Given the description of an element on the screen output the (x, y) to click on. 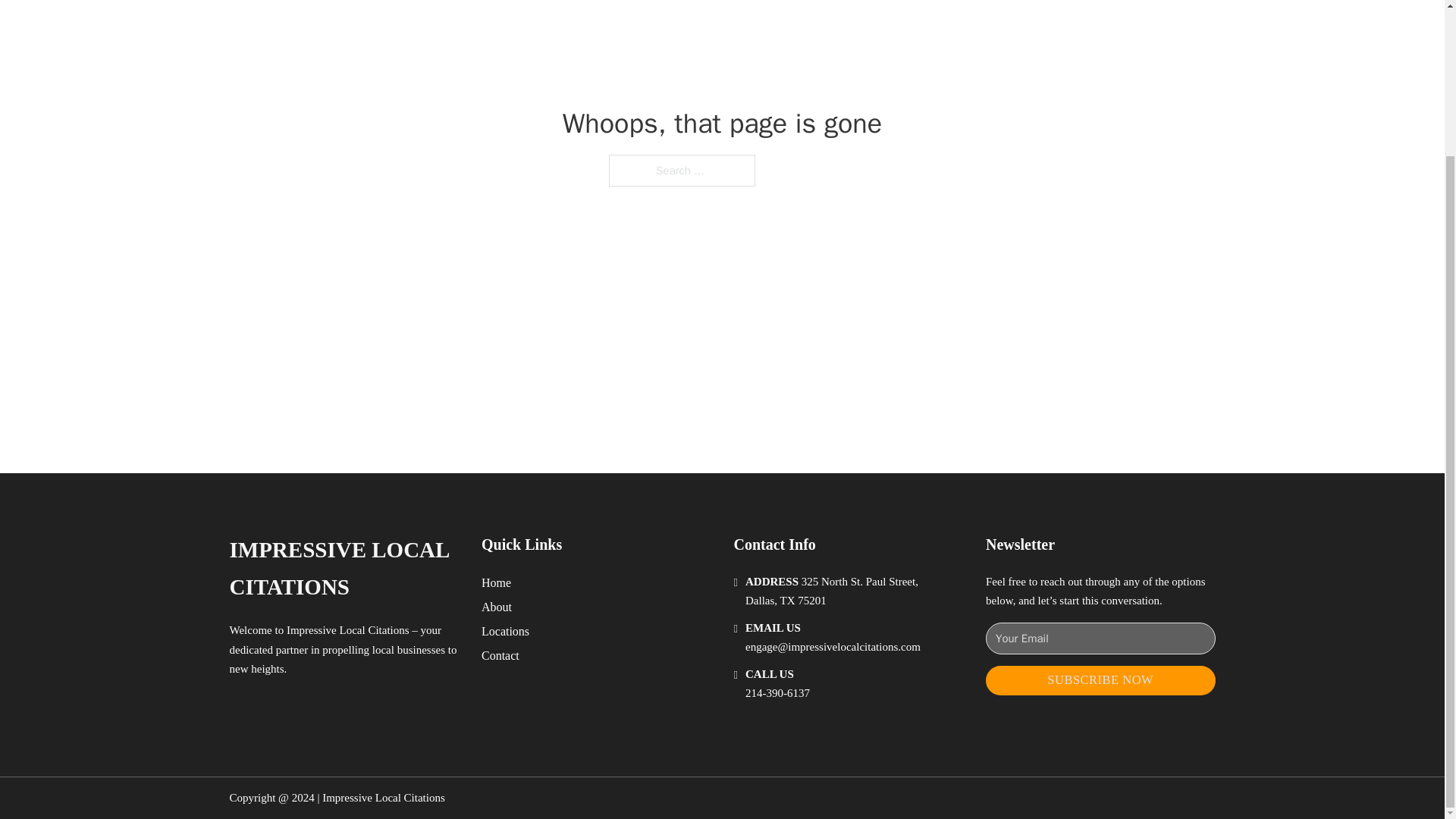
Contact (500, 655)
About (496, 607)
IMPRESSIVE LOCAL CITATIONS (343, 568)
SUBSCRIBE NOW (1100, 680)
Locations (505, 630)
214-390-6137 (777, 693)
Home (496, 582)
